Given the description of an element on the screen output the (x, y) to click on. 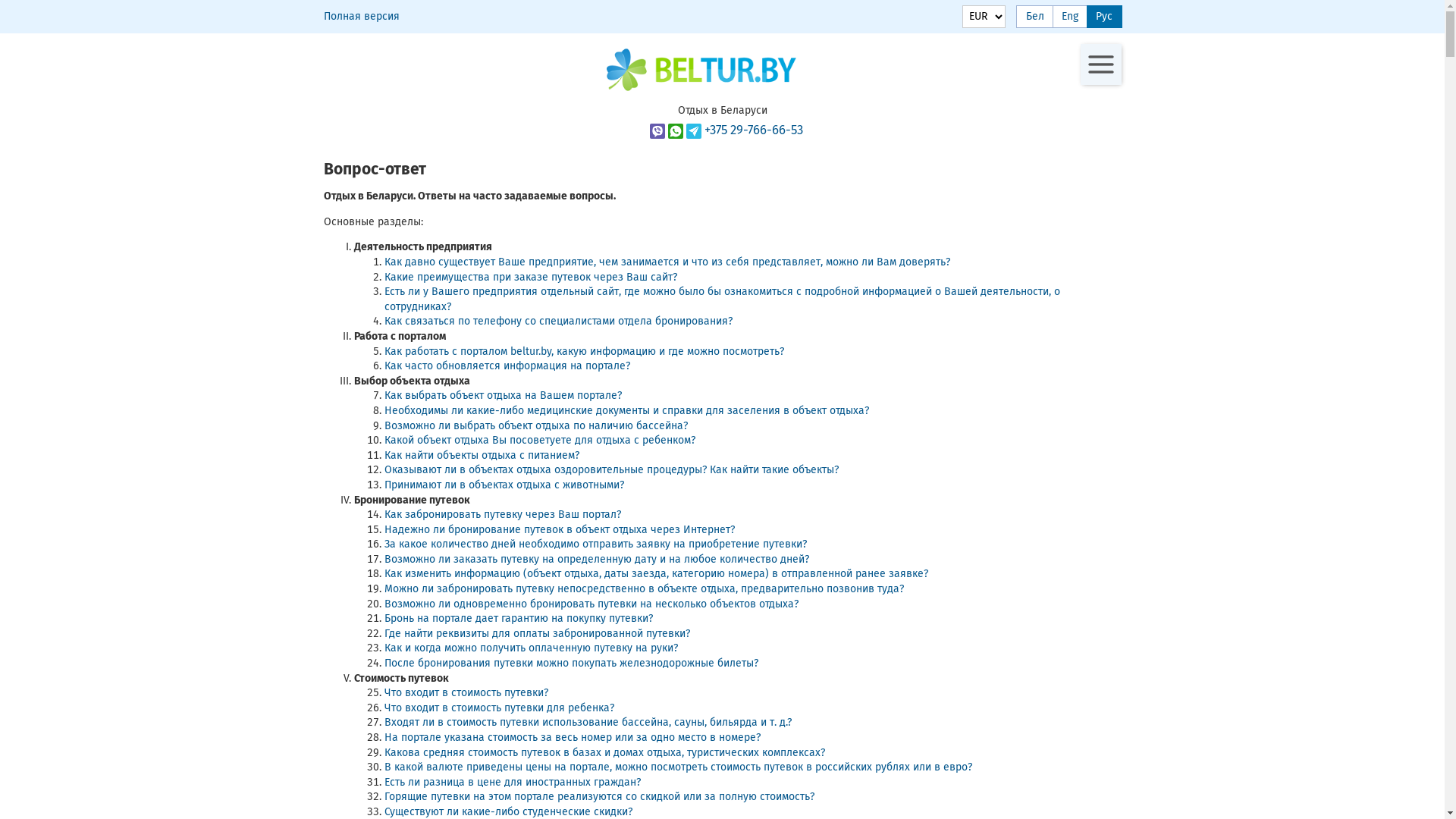
+375 29-766-66-53 Element type: text (726, 130)
Eng Element type: text (1069, 16)
